Given the description of an element on the screen output the (x, y) to click on. 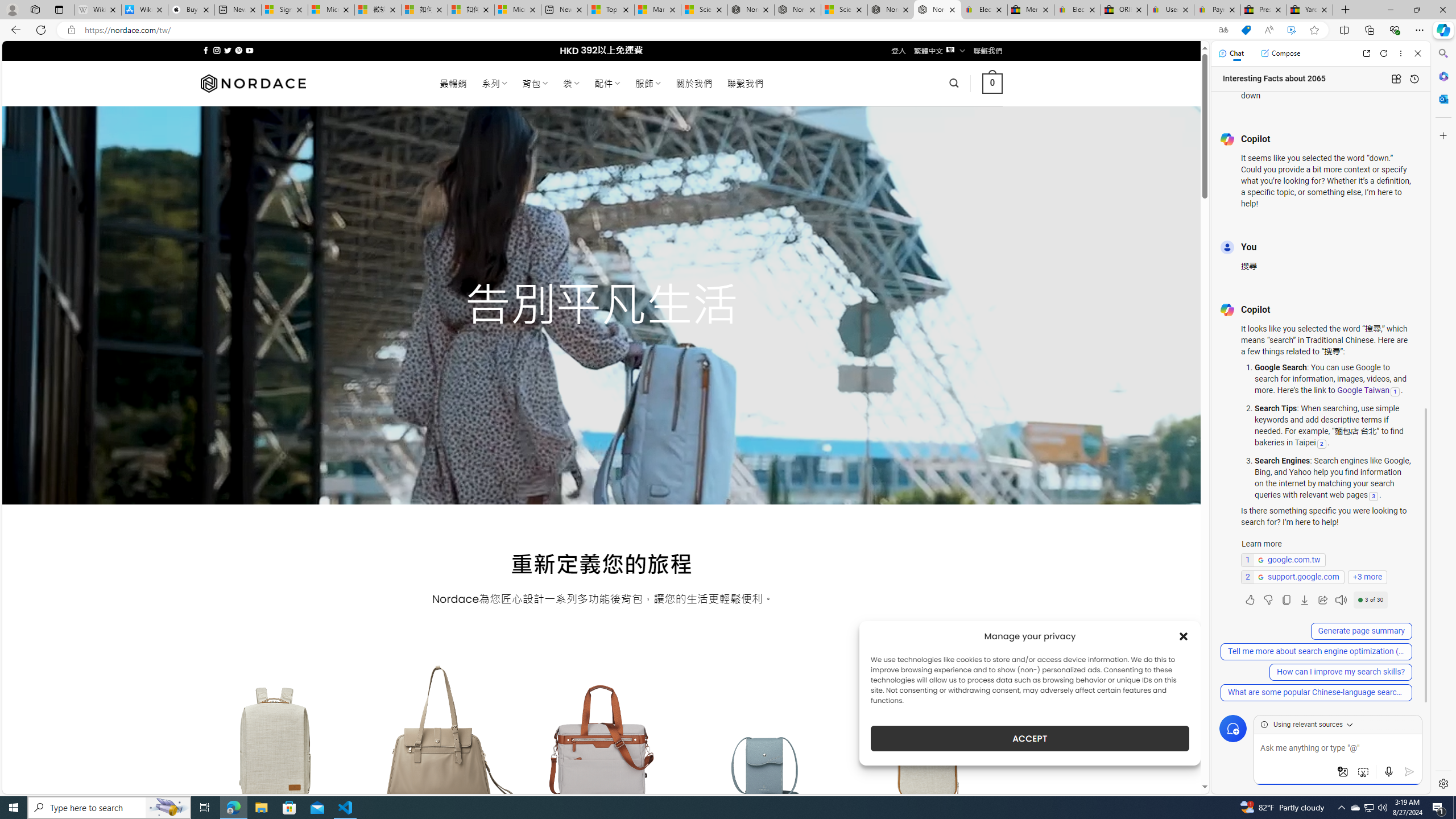
Microsoft account | Account Checkup (517, 9)
Follow on Facebook (205, 50)
Buy iPad - Apple (191, 9)
Follow on Instagram (216, 50)
Sign in to your Microsoft account (284, 9)
Chat (1231, 52)
